Given the description of an element on the screen output the (x, y) to click on. 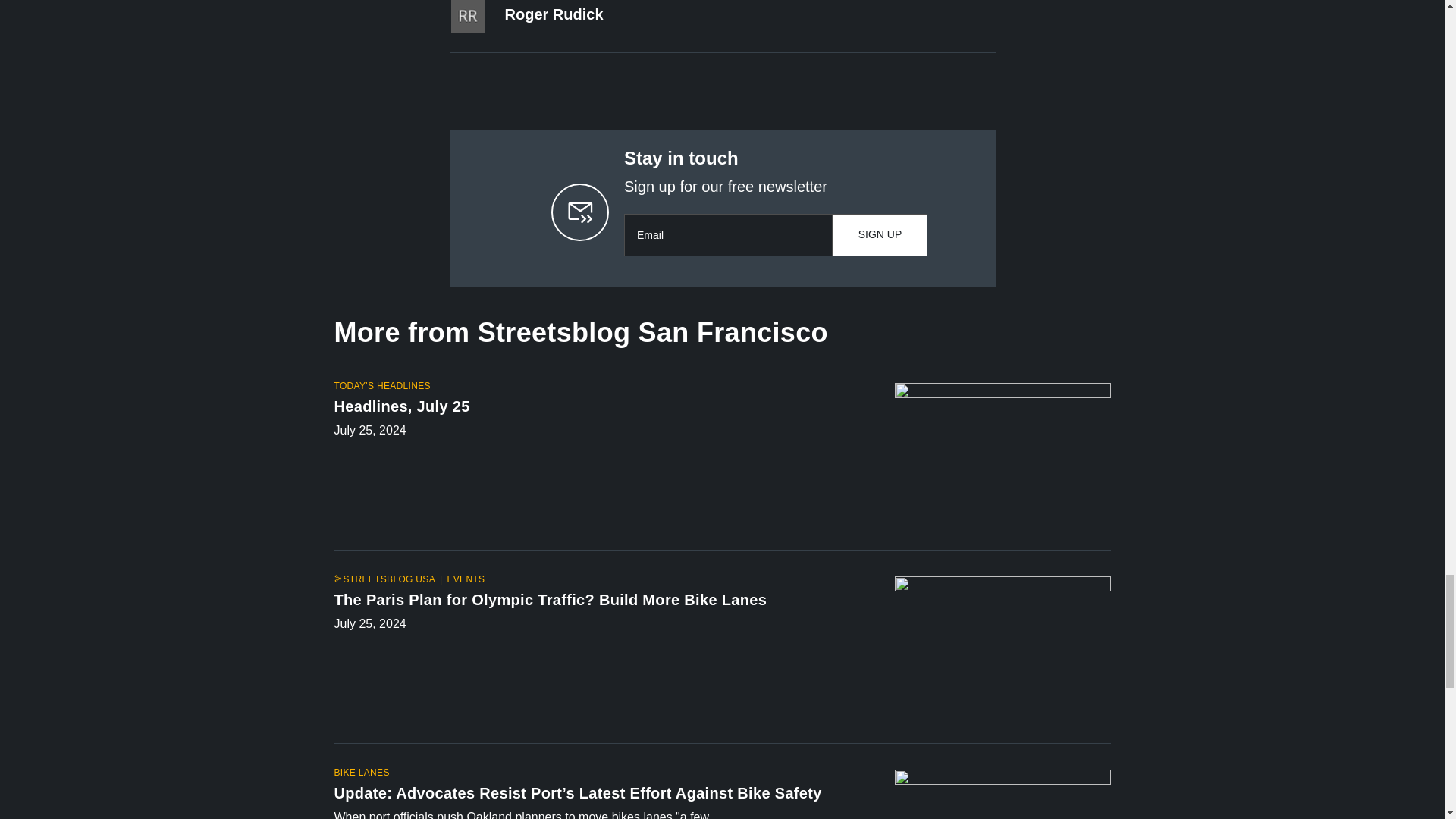
Roger Rudick (554, 14)
